Given the description of an element on the screen output the (x, y) to click on. 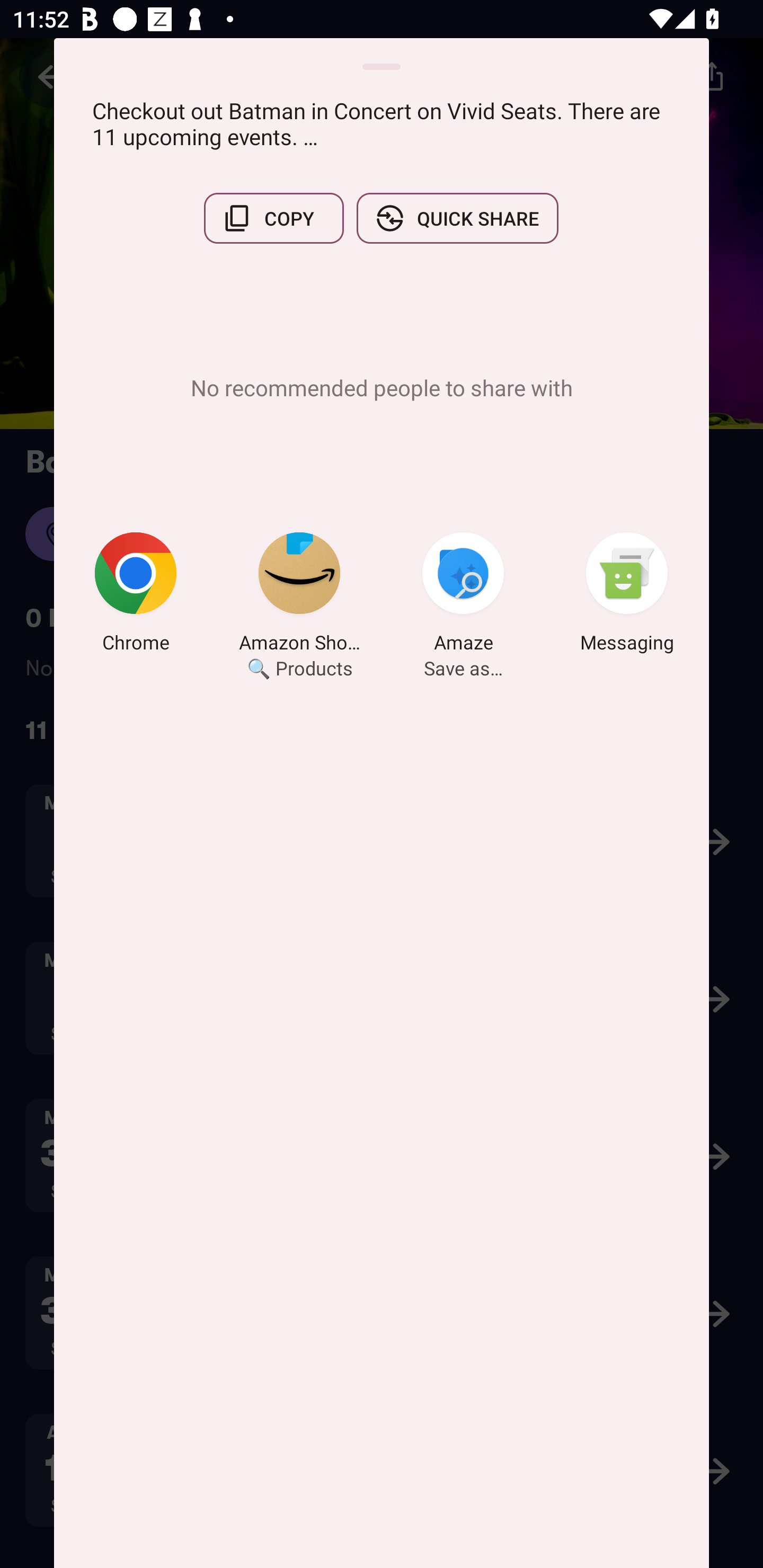
COPY (273, 218)
QUICK SHARE (457, 218)
Chrome (135, 594)
Amazon Shopping 🔍 Products (299, 594)
Amaze Save as… (463, 594)
Messaging (626, 594)
